Given the description of an element on the screen output the (x, y) to click on. 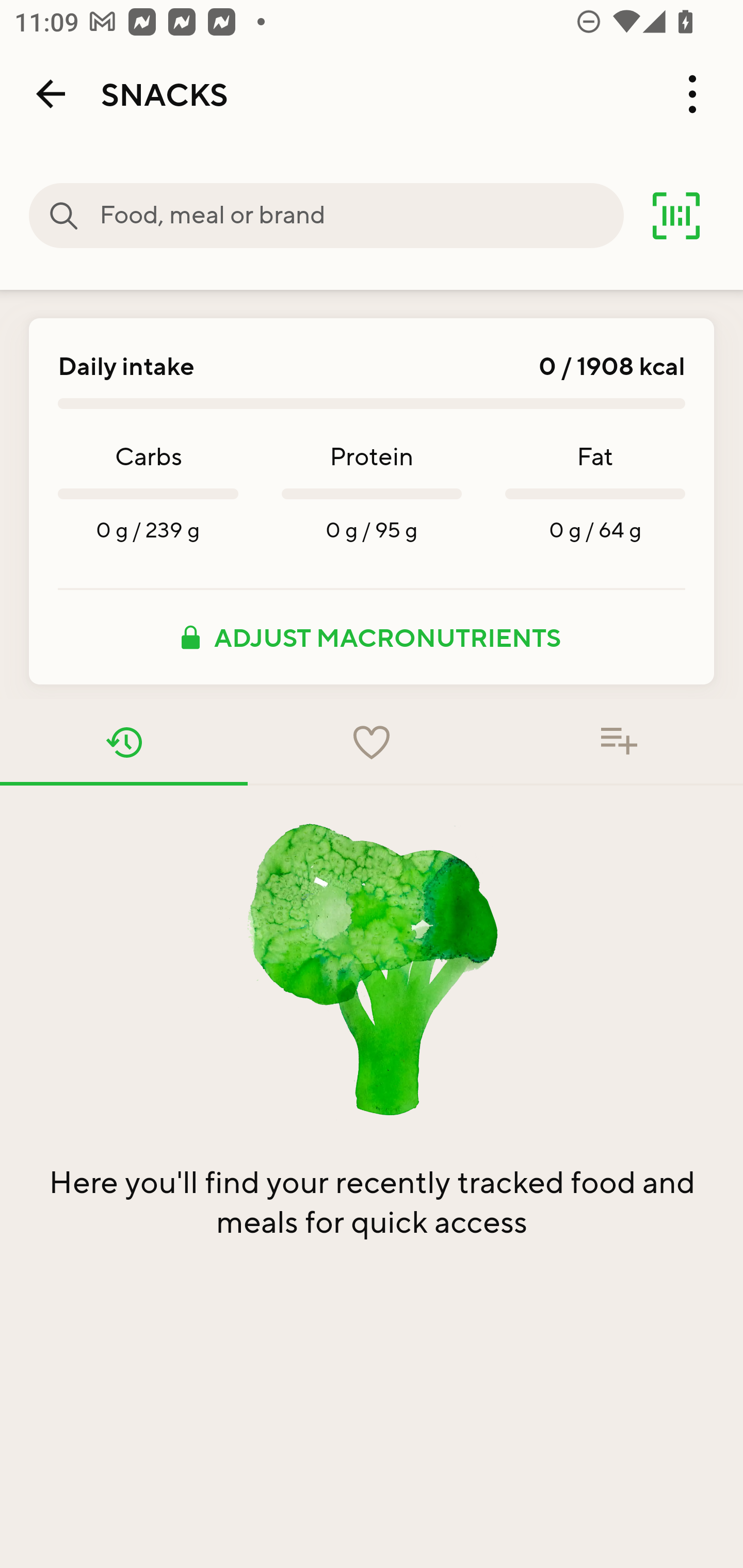
Back (50, 93)
Food, meal or brand (63, 215)
Food, meal or brand (361, 215)
ADJUST MACRONUTRIENTS (371, 637)
Favorites (371, 742)
Food added (619, 742)
